Given the description of an element on the screen output the (x, y) to click on. 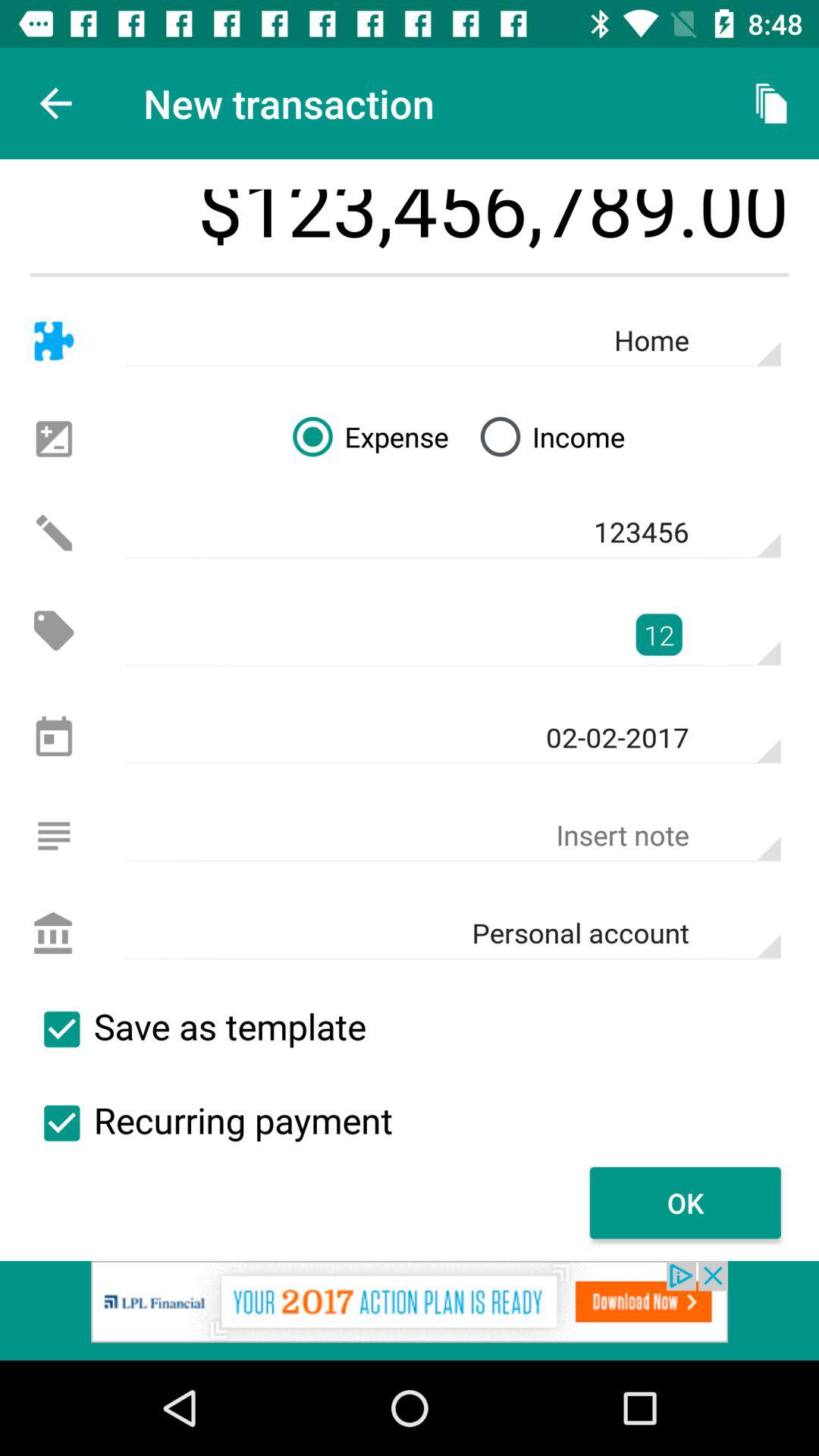
insert note (53, 835)
